Given the description of an element on the screen output the (x, y) to click on. 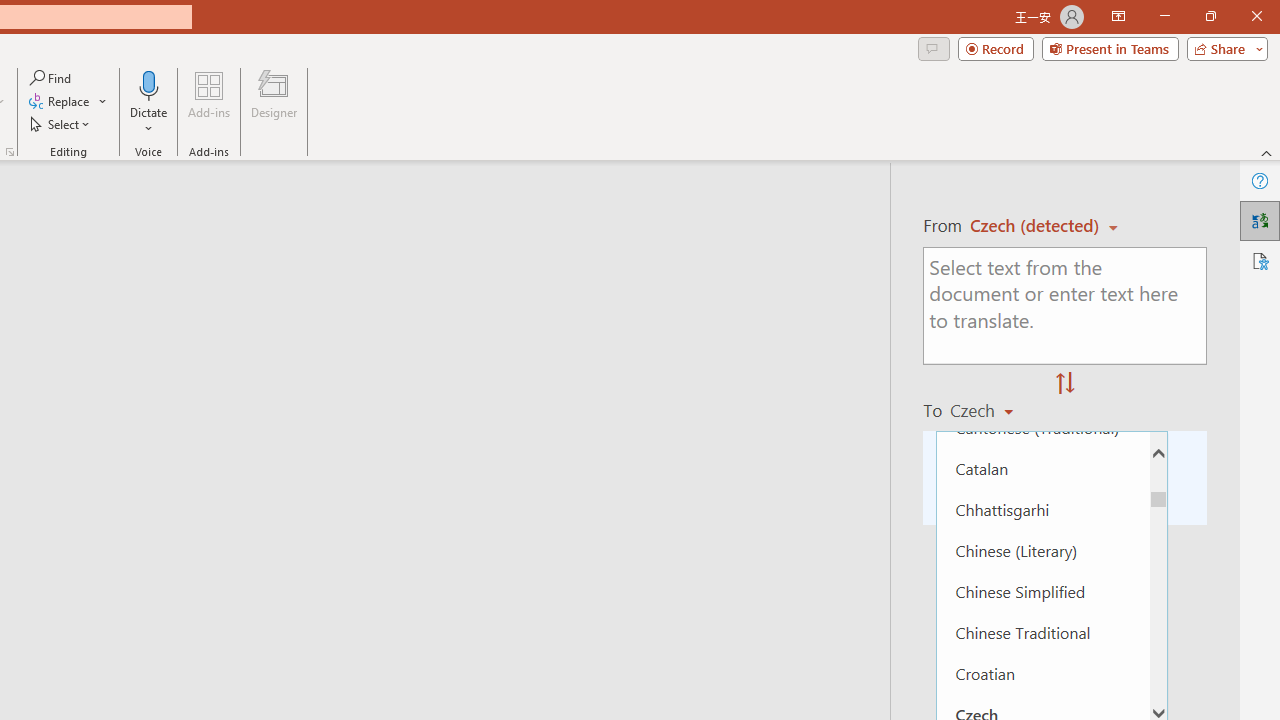
Swap "from" and "to" languages. (1065, 383)
Basque (1042, 222)
Czech (detected) (1037, 225)
Chinese Traditional (1042, 632)
Bulgarian (1042, 385)
Chhattisgarhi (1042, 508)
